Given the description of an element on the screen output the (x, y) to click on. 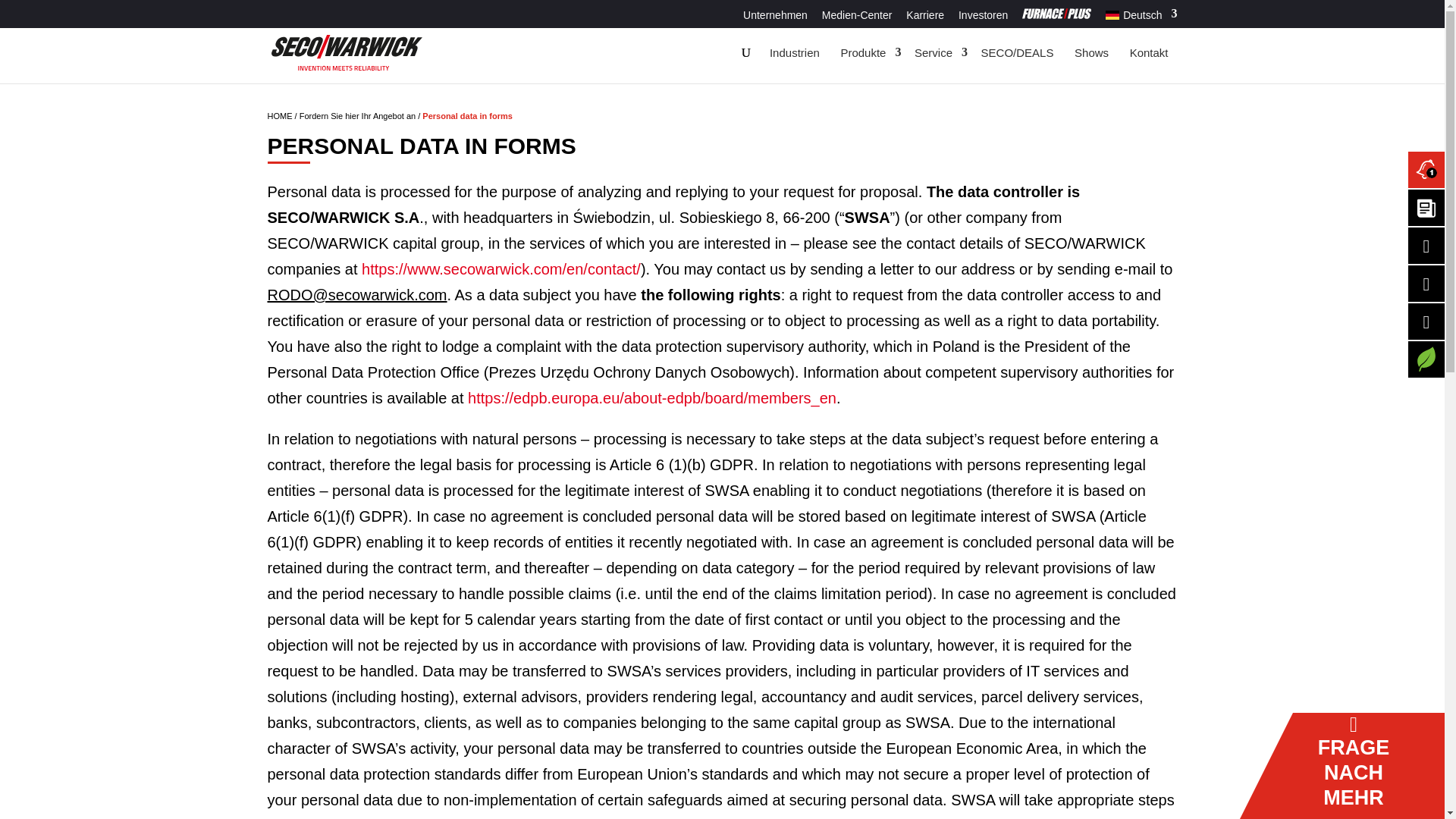
Unternehmen (775, 18)
Service (937, 52)
Deutsch (1140, 17)
Investoren (982, 18)
Deutsch (1140, 17)
Karriere (924, 18)
Industrien (794, 52)
HOME (279, 115)
Fordern Sie hier Ihr Angebot an (356, 115)
Medien-Center (857, 18)
Deutsch (1112, 14)
Produkte (866, 52)
Kontakt (1149, 52)
Shows (1091, 52)
